Given the description of an element on the screen output the (x, y) to click on. 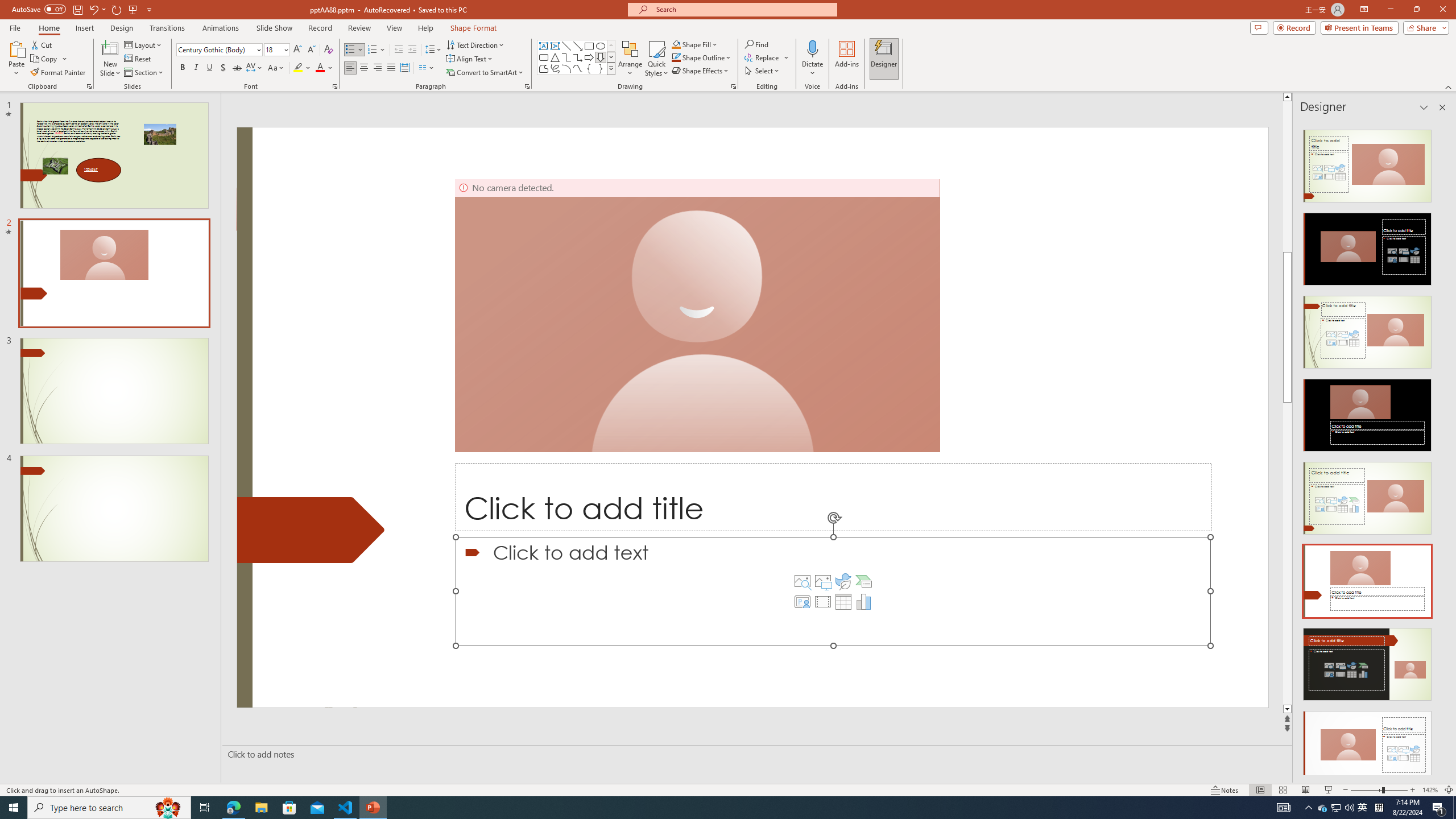
Increase Font Size (297, 49)
Vertical Text Box (554, 45)
Row up (611, 45)
Title TextBox (833, 496)
Rectangle: Rounded Corners (543, 57)
Paragraph... (526, 85)
Help (425, 28)
Layout (143, 44)
Increase Indent (412, 49)
Content Placeholder (832, 591)
Copy (49, 58)
Shape Fill (694, 44)
Comments (1259, 27)
AutomationID: ShapesInsertGallery (576, 57)
Isosceles Triangle (554, 57)
